Given the description of an element on the screen output the (x, y) to click on. 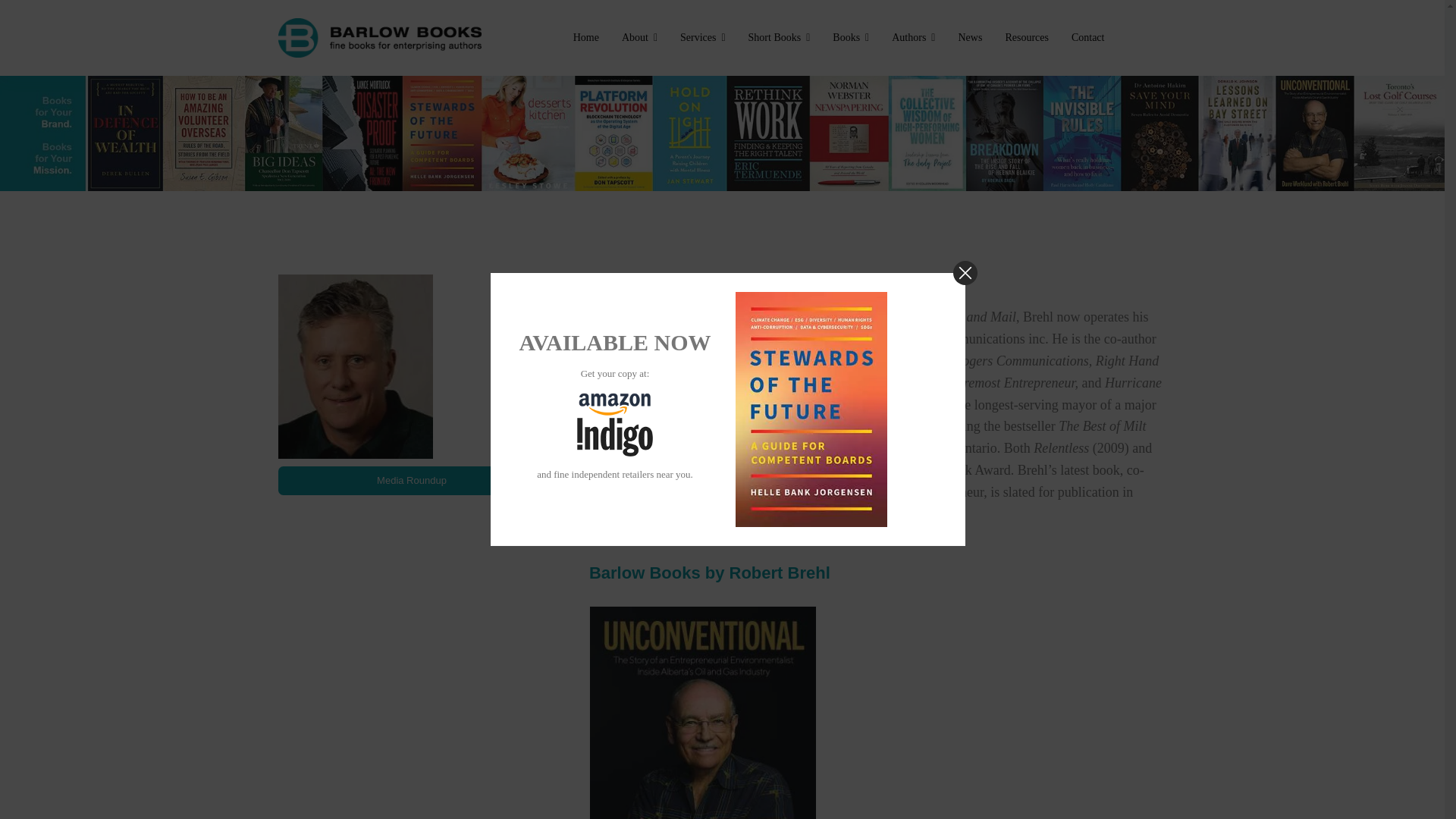
Media Roundup (411, 480)
Services (702, 38)
Short Books (779, 38)
